Given the description of an element on the screen output the (x, y) to click on. 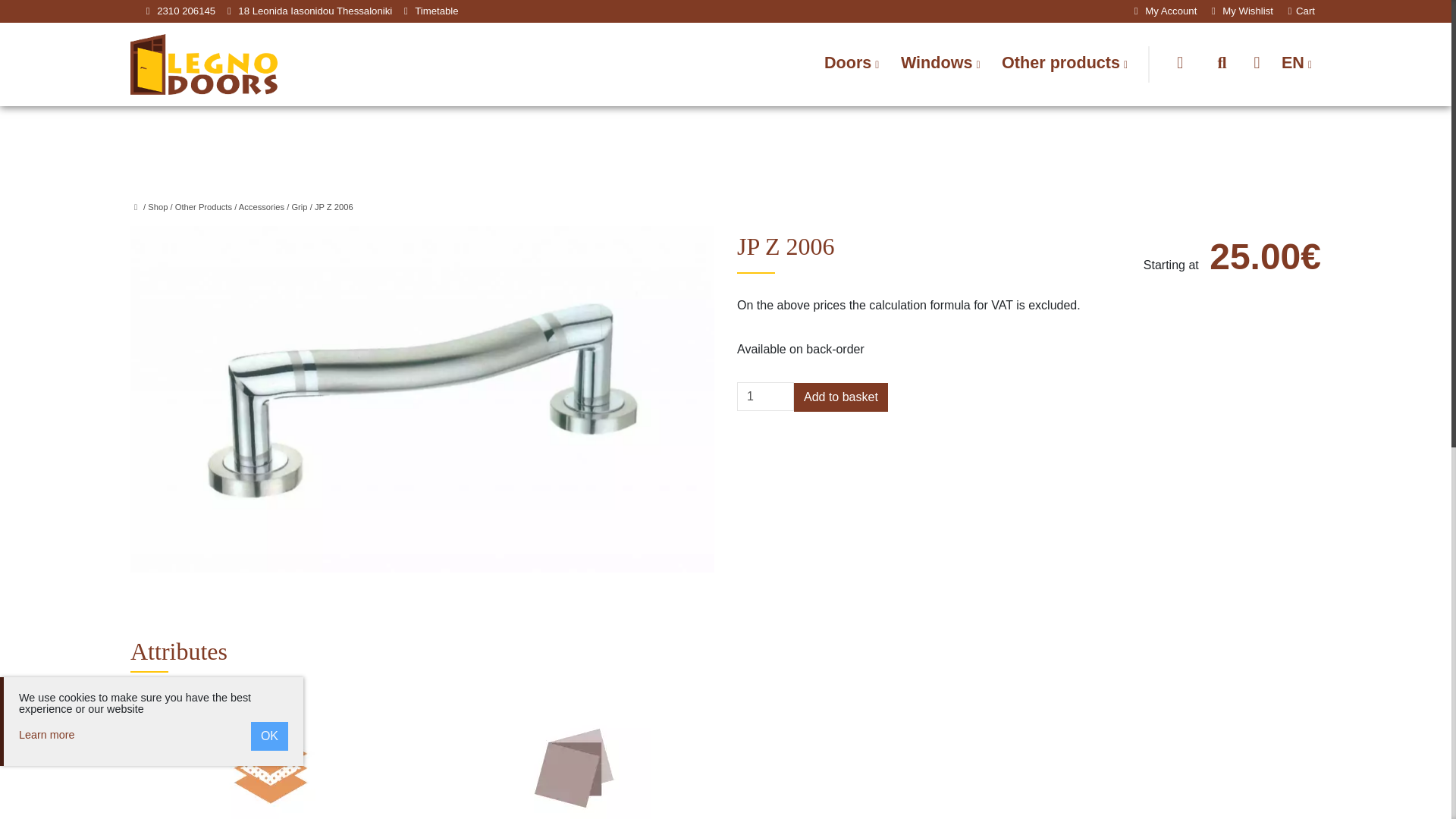
Cart (1300, 11)
Other products (1064, 63)
Legno Doors (204, 62)
1 (764, 396)
My Account (1162, 11)
EN (1296, 63)
Timetable (436, 10)
Doors (851, 63)
My Wishlist (1239, 11)
Windows (940, 63)
